Given the description of an element on the screen output the (x, y) to click on. 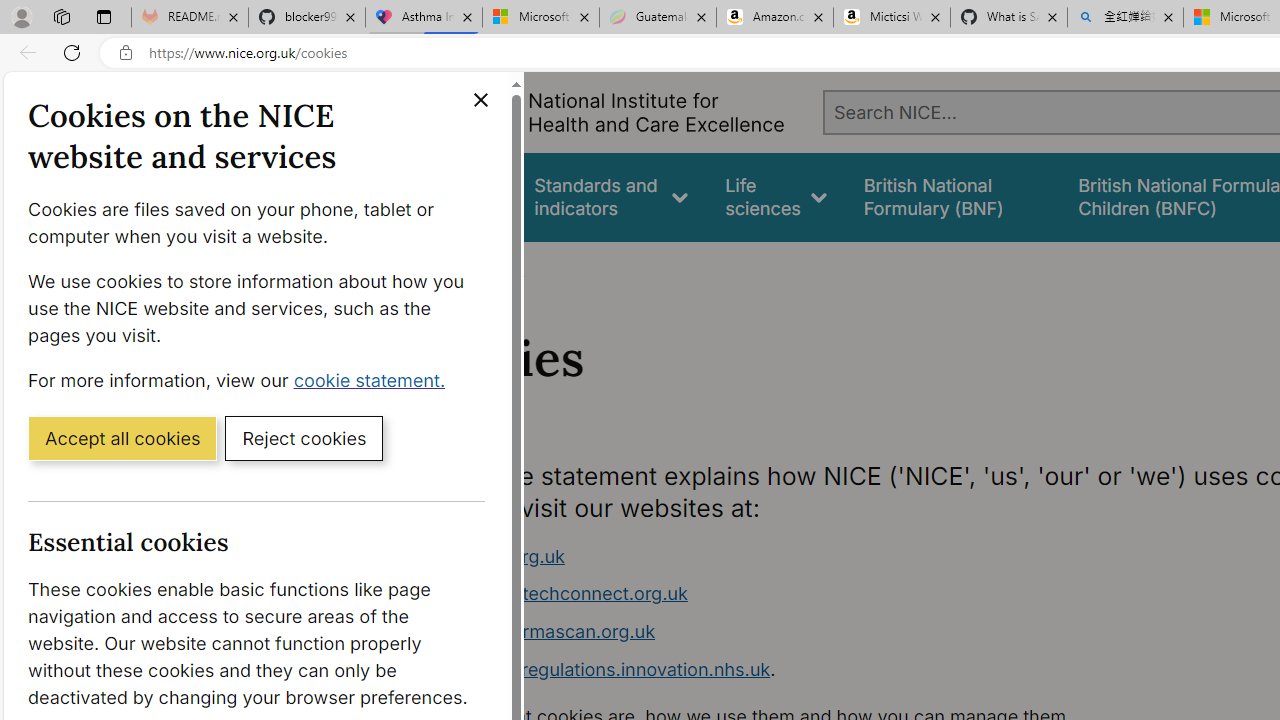
www.nice.org.uk (796, 556)
Reject cookies (304, 437)
Guidance (458, 196)
